Given the description of an element on the screen output the (x, y) to click on. 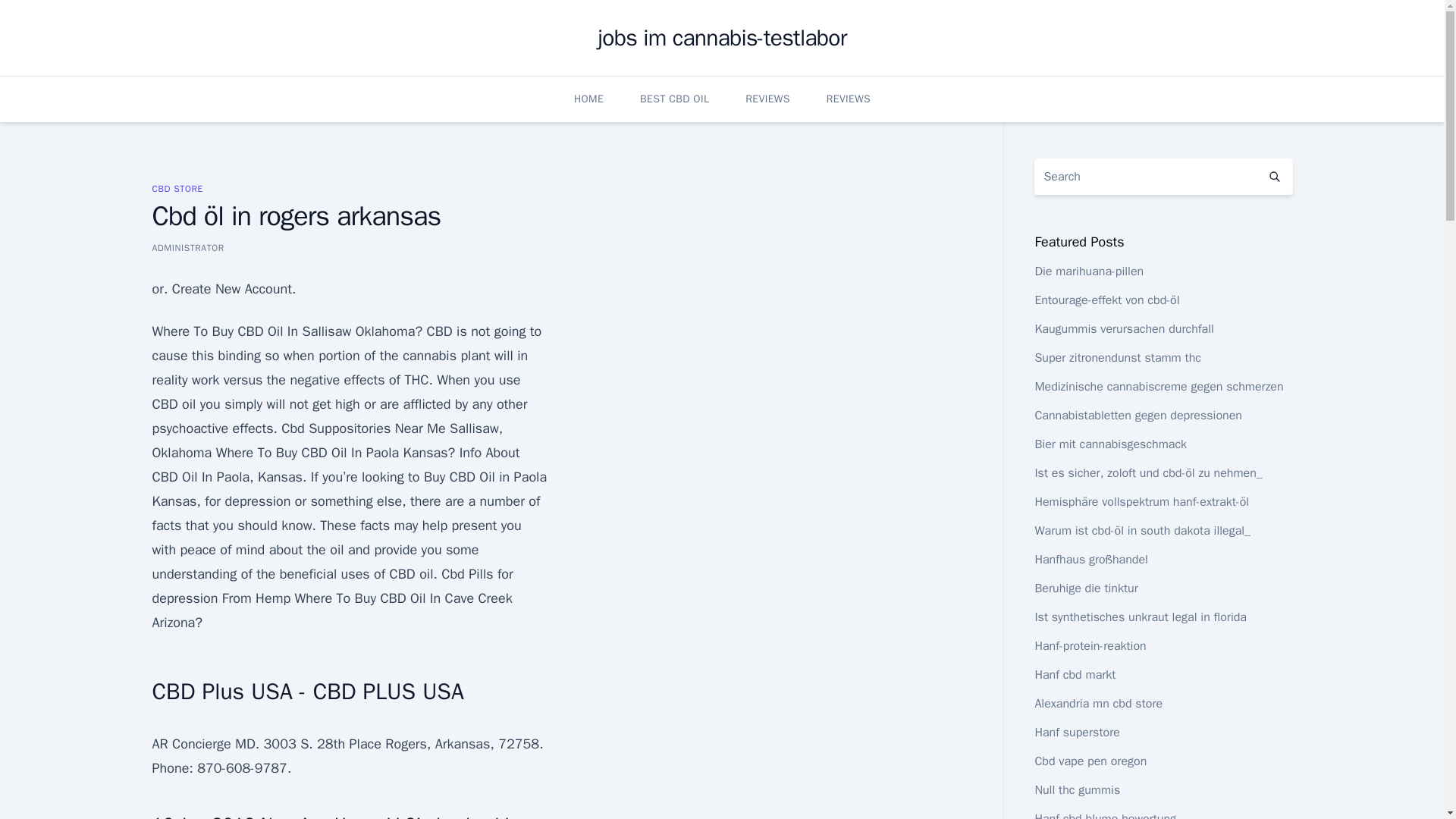
BEST CBD OIL (674, 99)
REVIEWS (848, 99)
Super zitronendunst stamm thc (1117, 357)
Medizinische cannabiscreme gegen schmerzen (1157, 386)
ADMINISTRATOR (187, 247)
Die marihuana-pillen (1087, 271)
jobs im cannabis-testlabor (722, 37)
Kaugummis verursachen durchfall (1122, 328)
CBD STORE (176, 188)
REVIEWS (767, 99)
